Given the description of an element on the screen output the (x, y) to click on. 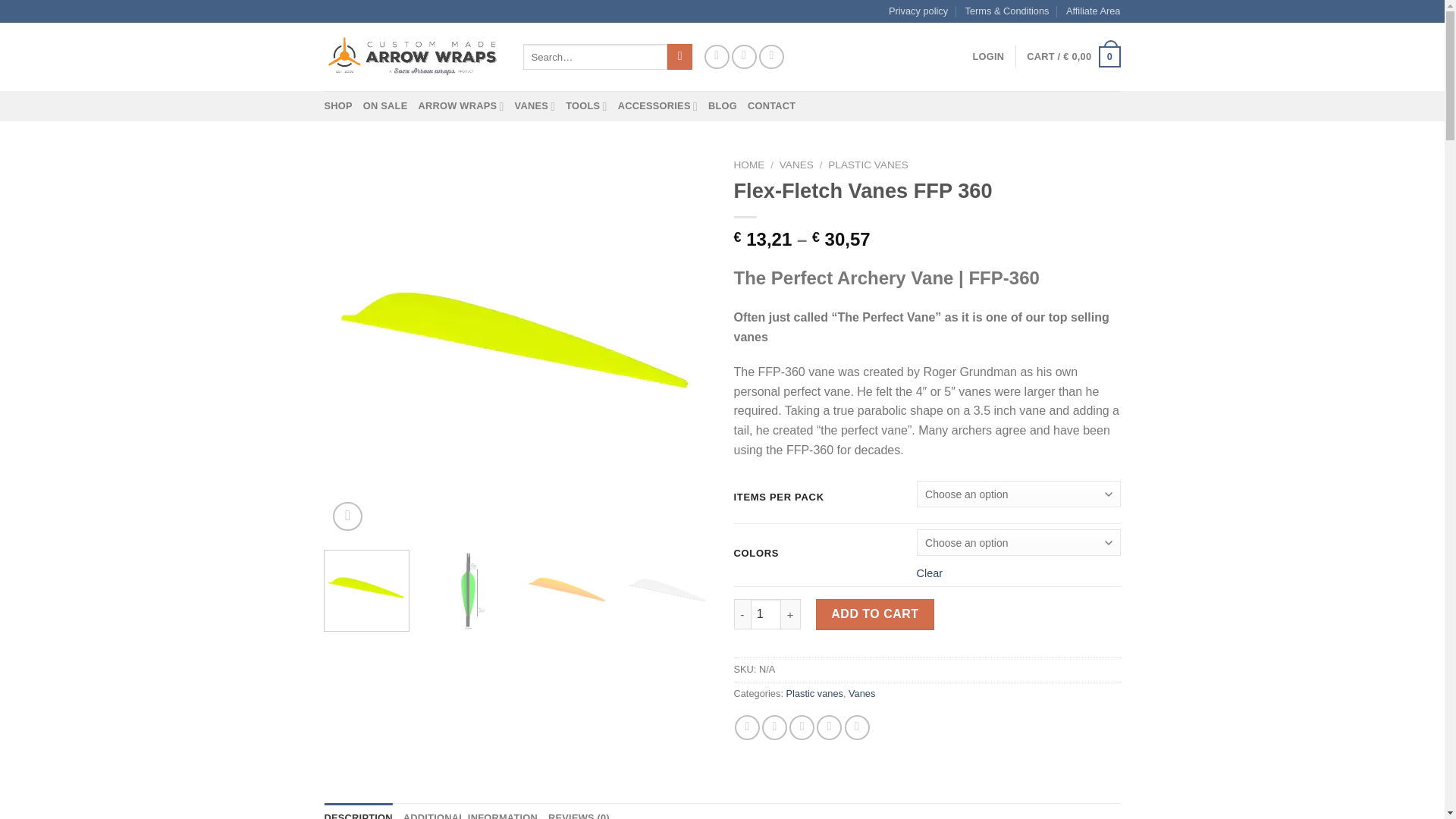
Follow on Instagram (744, 57)
Share on Twitter (774, 727)
1 (765, 613)
Search (679, 56)
Email to a Friend (801, 727)
SHOP (338, 105)
Cart (1072, 56)
Affiliate Area (1093, 11)
CustomMadeWraps.com - Arrow wraps exclusively made for you! (412, 56)
Share on LinkedIn (856, 727)
ARROW WRAPS (460, 105)
Login (988, 56)
Share on Facebook (747, 727)
LOGIN (988, 56)
Follow on Facebook (716, 57)
